Given the description of an element on the screen output the (x, y) to click on. 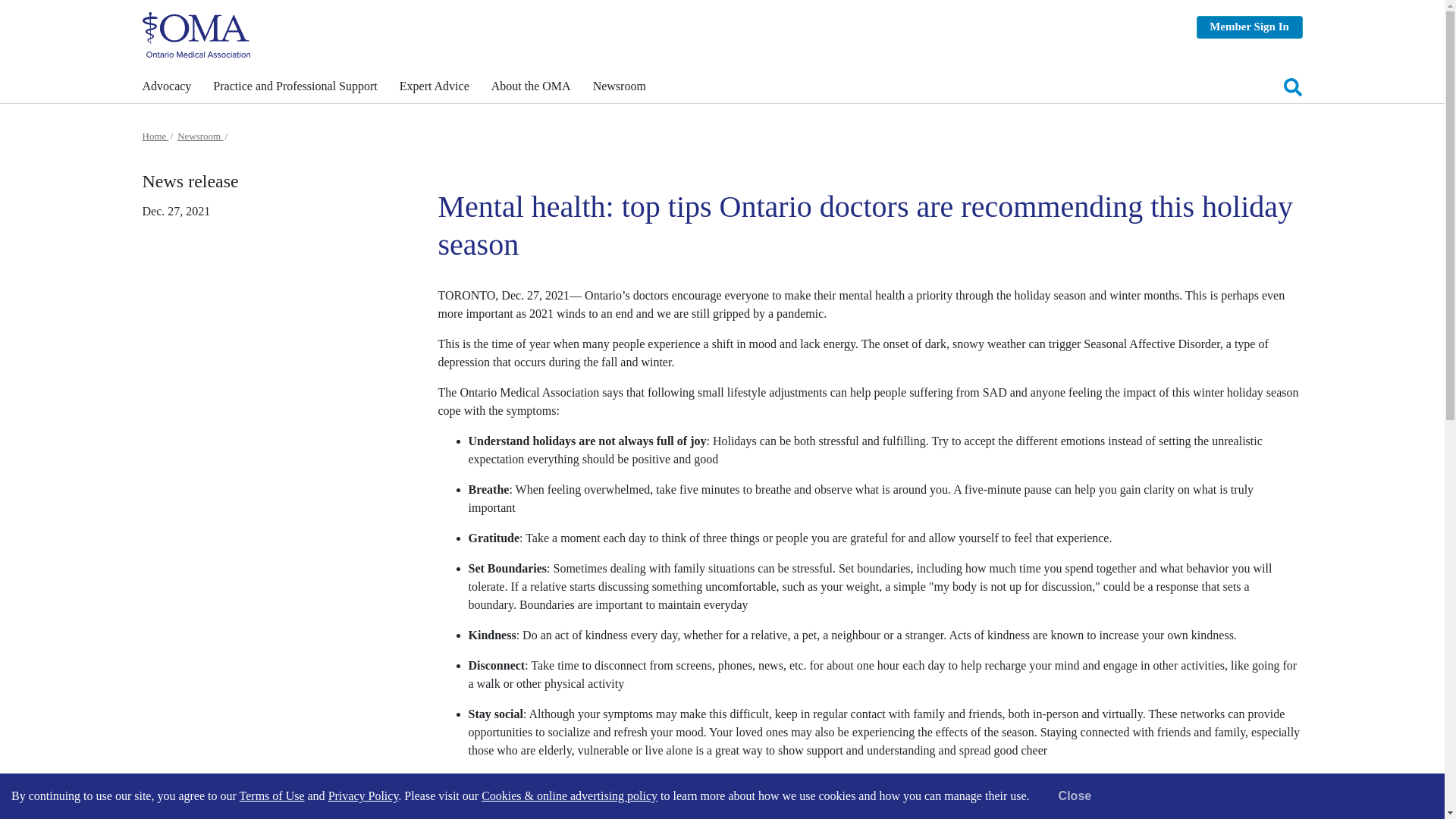
Ontario Medical Association Home (196, 33)
Member Sign In (1249, 26)
Practice and Professional Support (294, 87)
Advocacy (167, 87)
